Given the description of an element on the screen output the (x, y) to click on. 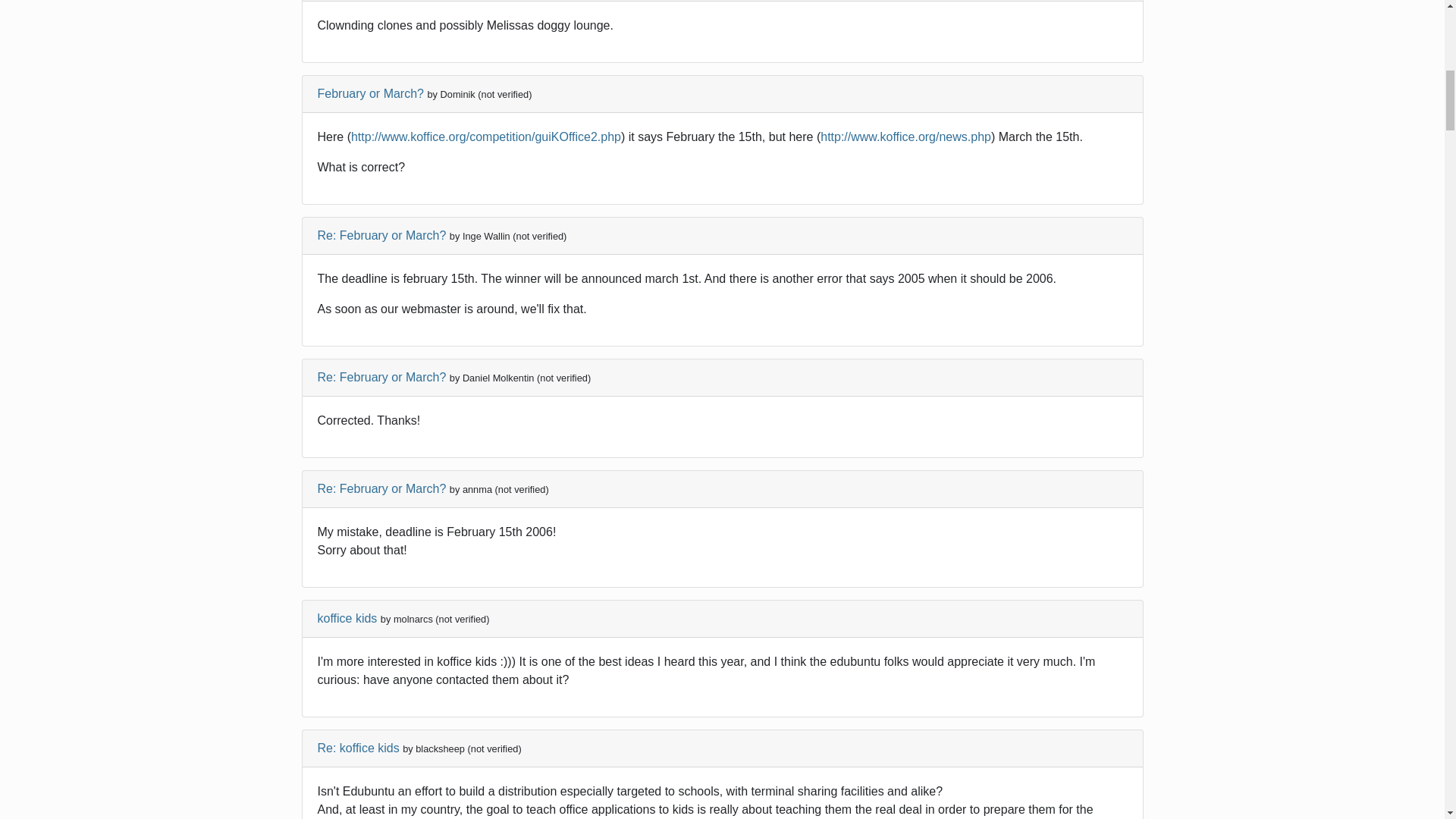
February or March? (370, 92)
koffice kids (347, 617)
Re: koffice kids (357, 748)
Re: February or March? (381, 488)
Re: February or March? (381, 235)
Re: February or March? (381, 377)
